Given the description of an element on the screen output the (x, y) to click on. 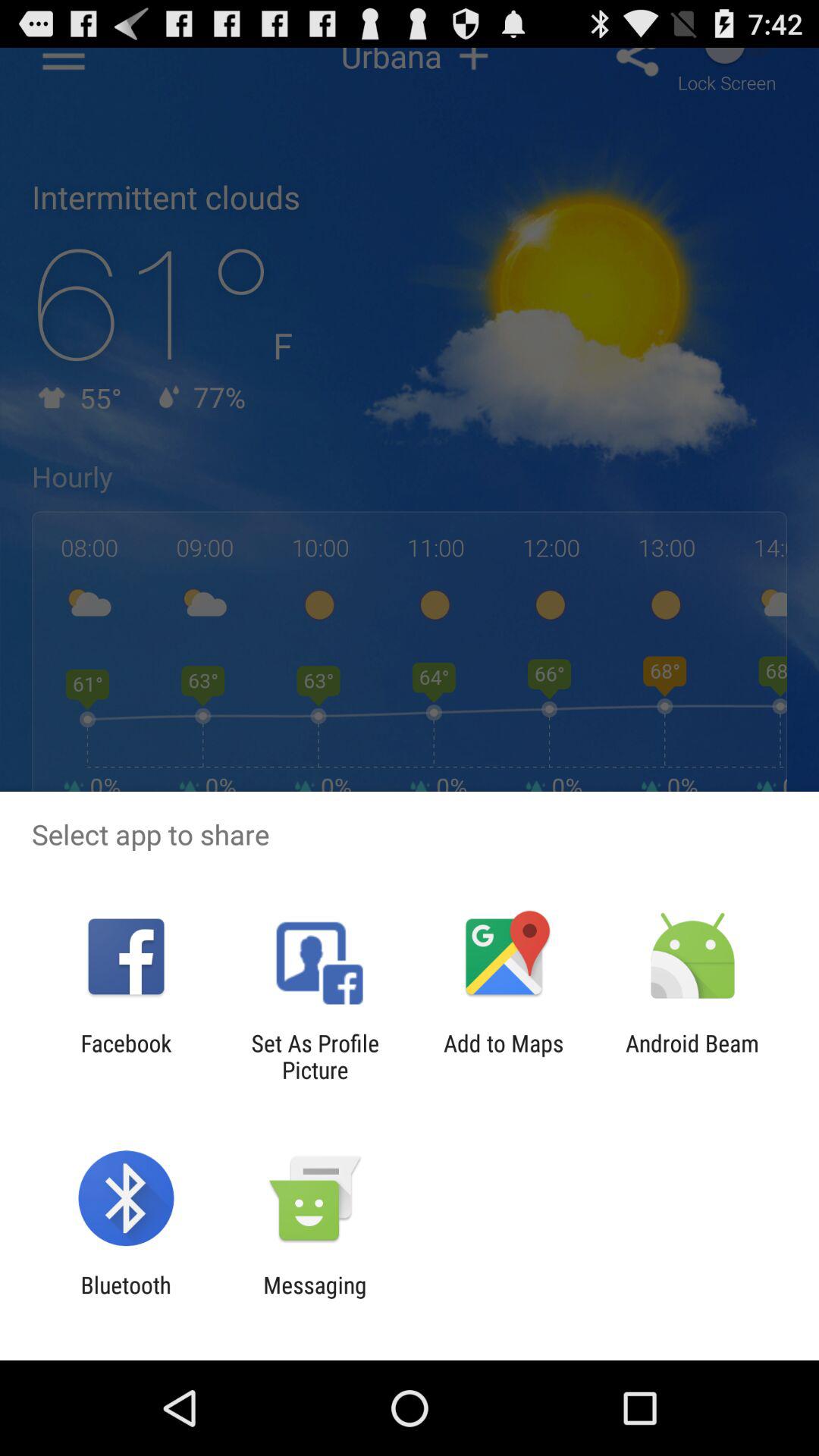
choose icon next to the messaging icon (125, 1298)
